Given the description of an element on the screen output the (x, y) to click on. 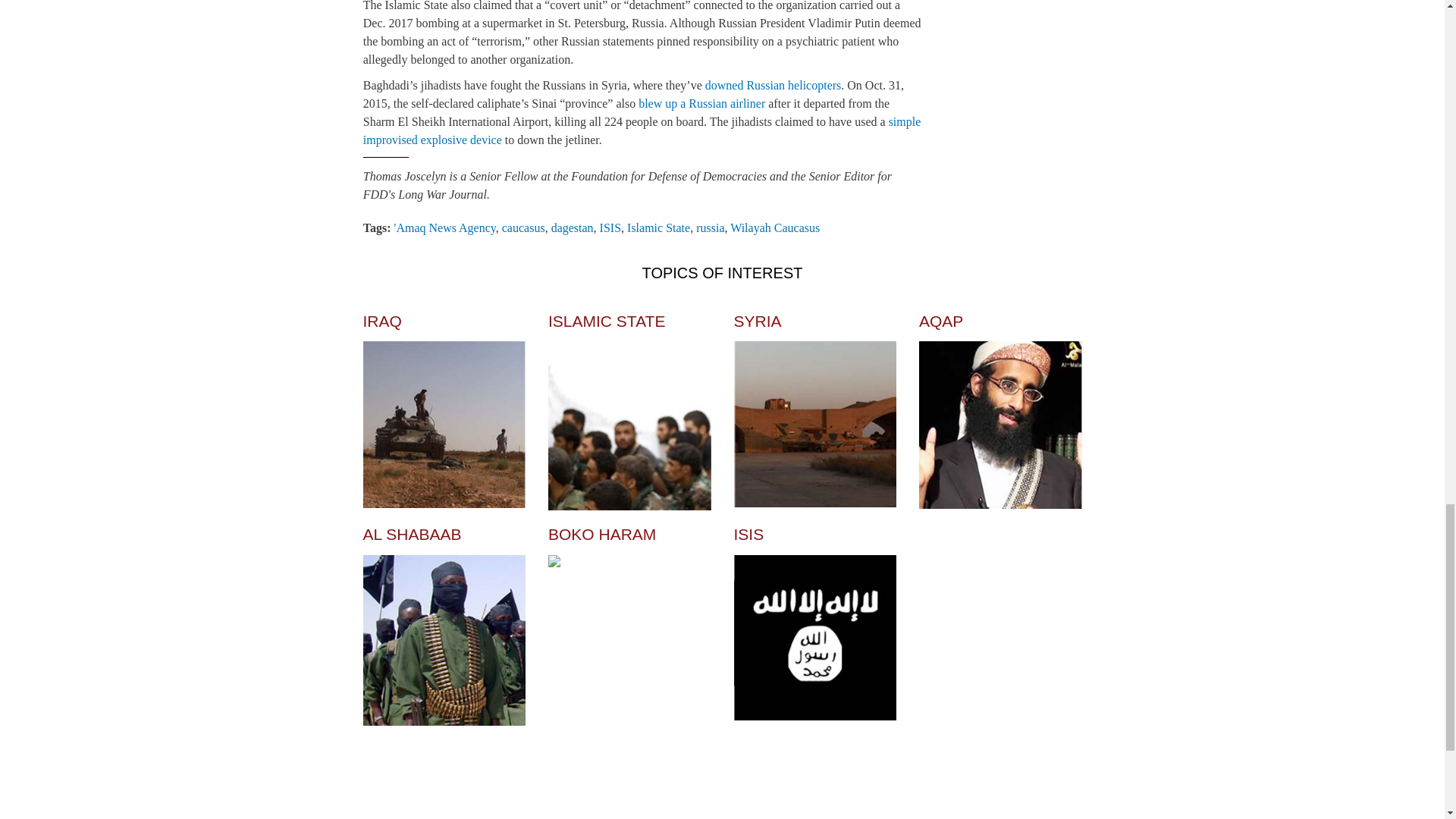
dagestan (572, 227)
Islamic State (658, 227)
simple improvised explosive device (641, 130)
ISIS (610, 227)
downed Russian helicopters (772, 84)
Wilayah Caucasus (774, 227)
caucasus (523, 227)
russia (709, 227)
'Amaq News Agency (445, 227)
blew up a Russian airliner (702, 103)
